Given the description of an element on the screen output the (x, y) to click on. 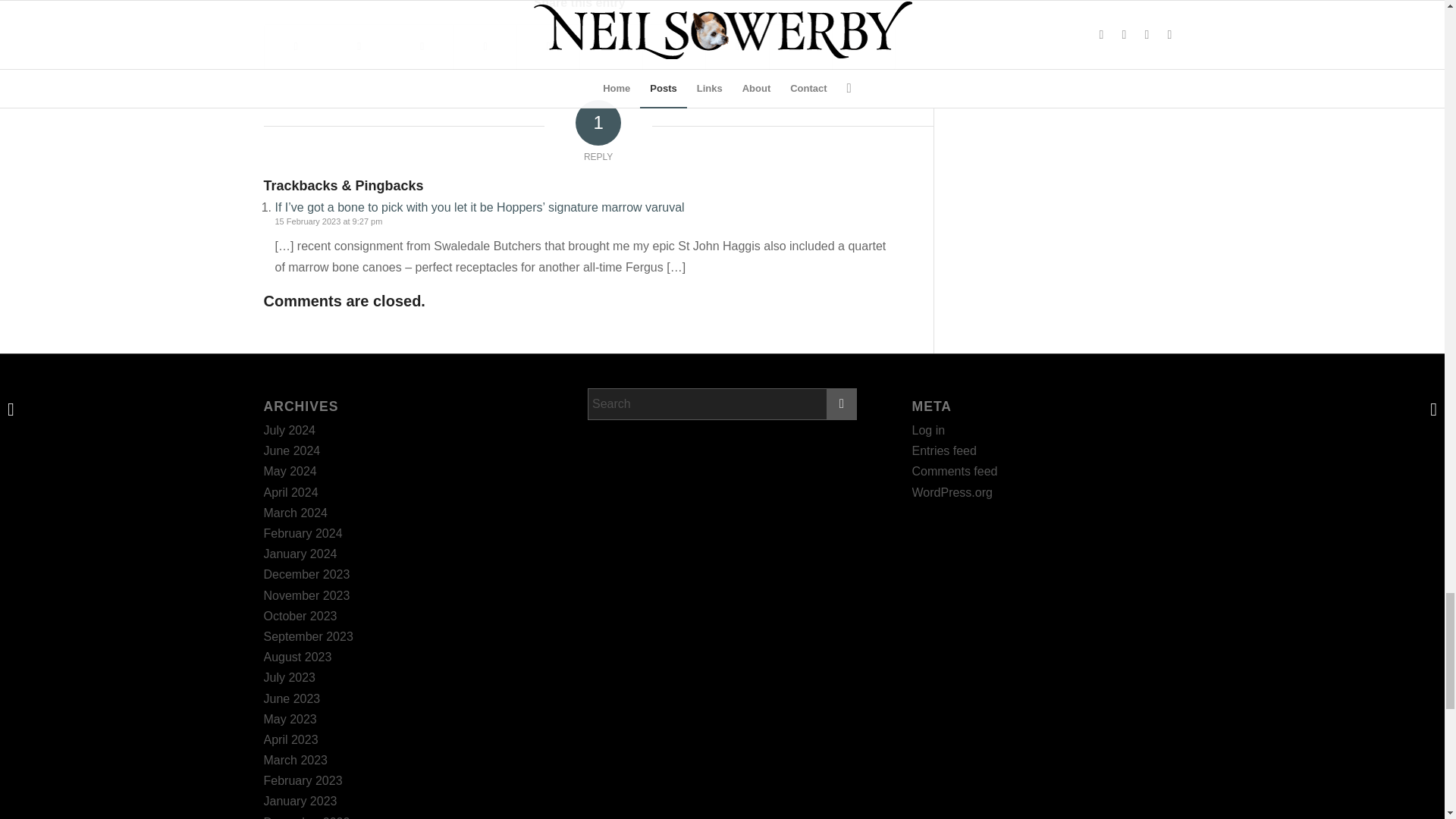
15 February 2023 at 9:27 pm (328, 221)
